Given the description of an element on the screen output the (x, y) to click on. 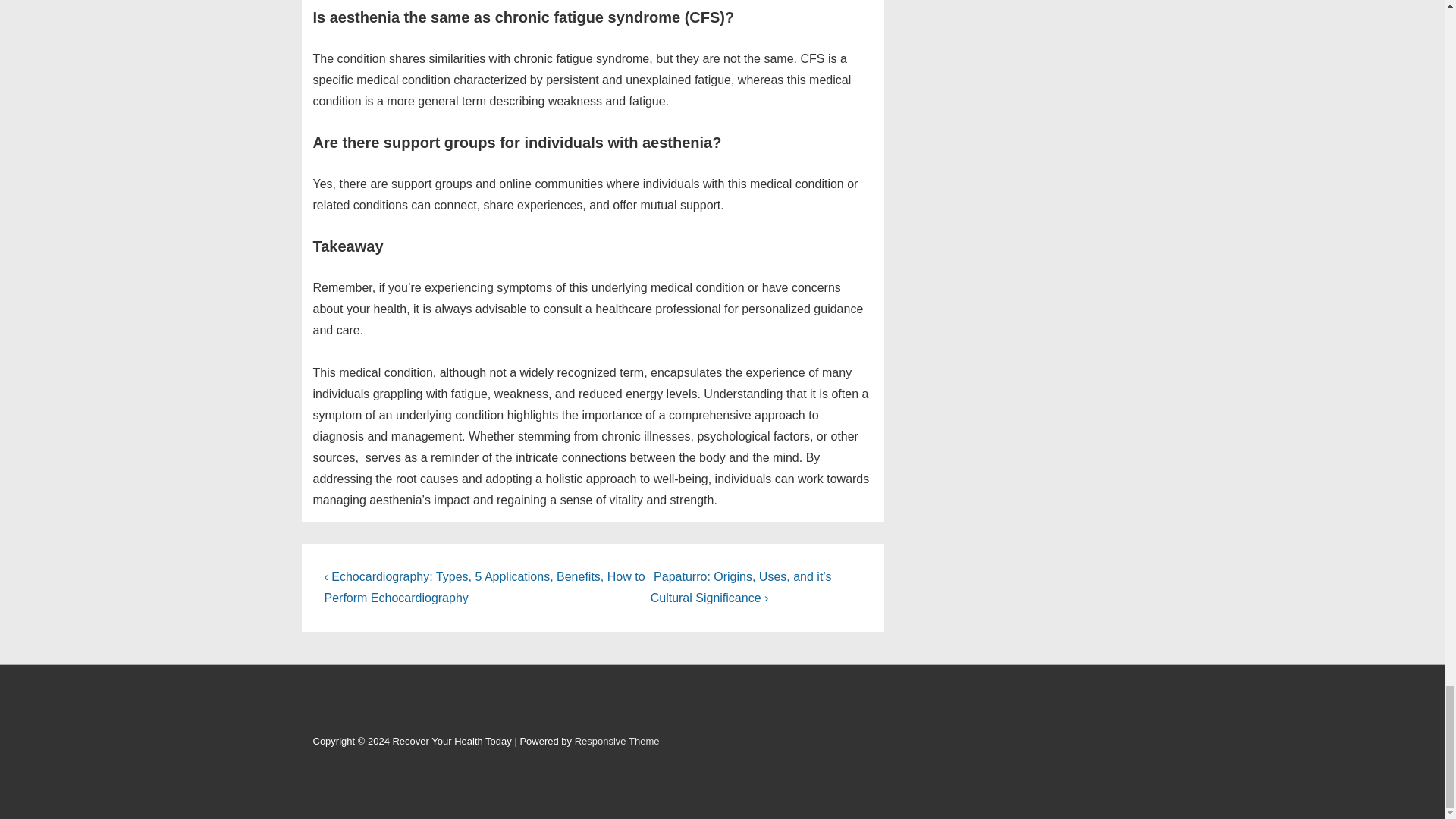
Responsive Theme (617, 740)
